Given the description of an element on the screen output the (x, y) to click on. 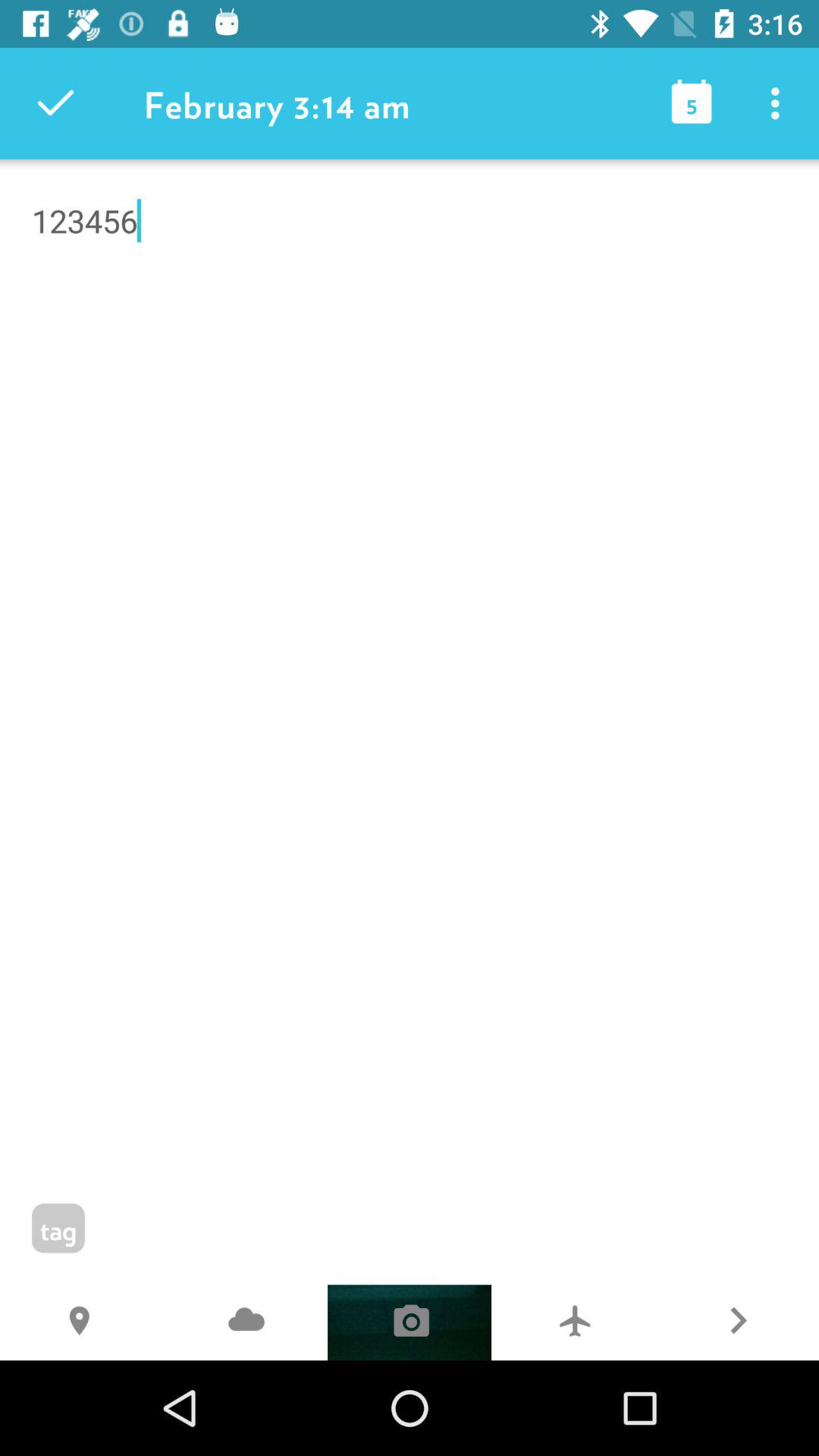
click the j icon (245, 1322)
